Given the description of an element on the screen output the (x, y) to click on. 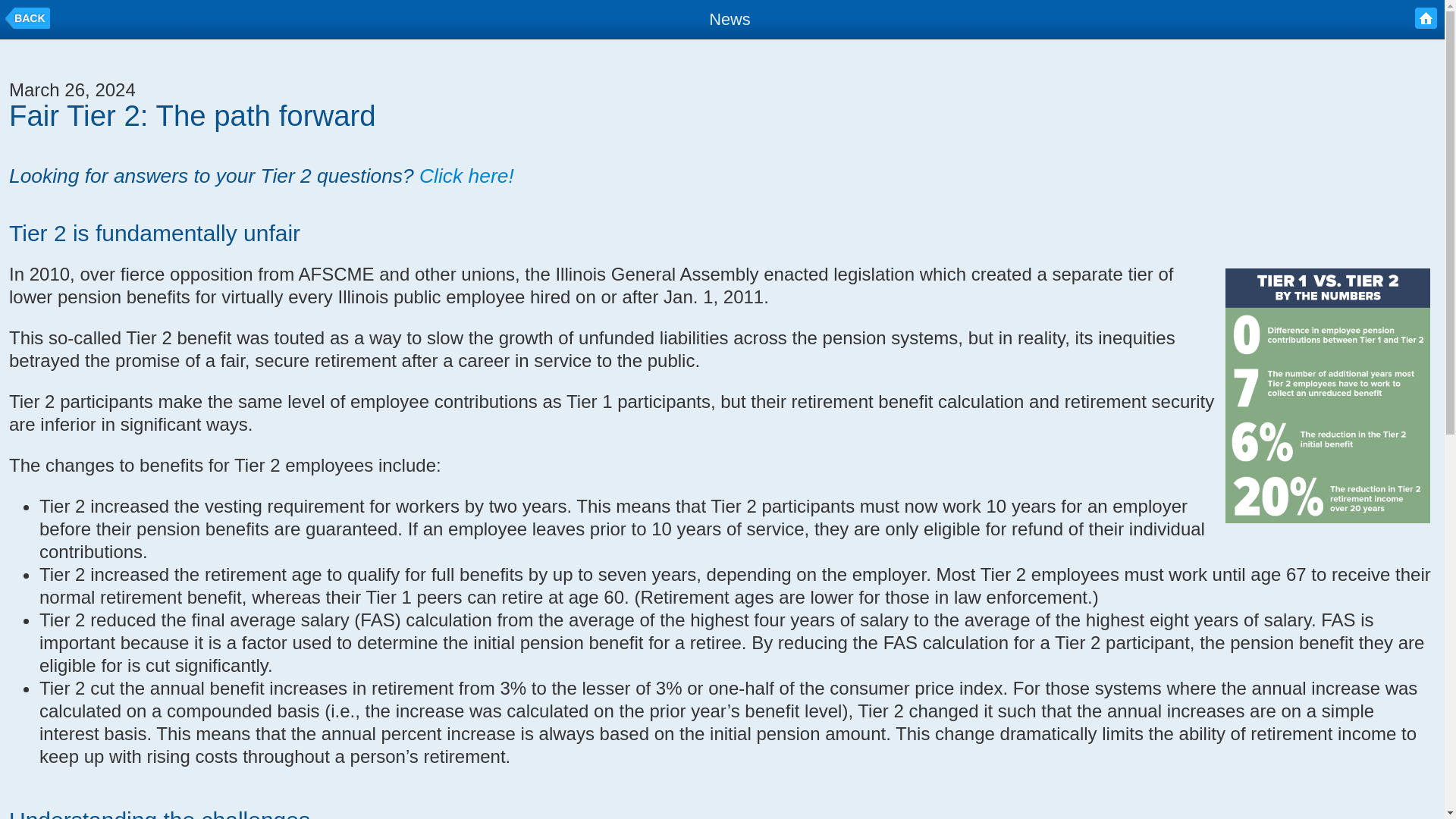
Home (1426, 17)
News (730, 18)
BACK (27, 21)
Click here! (466, 175)
